Given the description of an element on the screen output the (x, y) to click on. 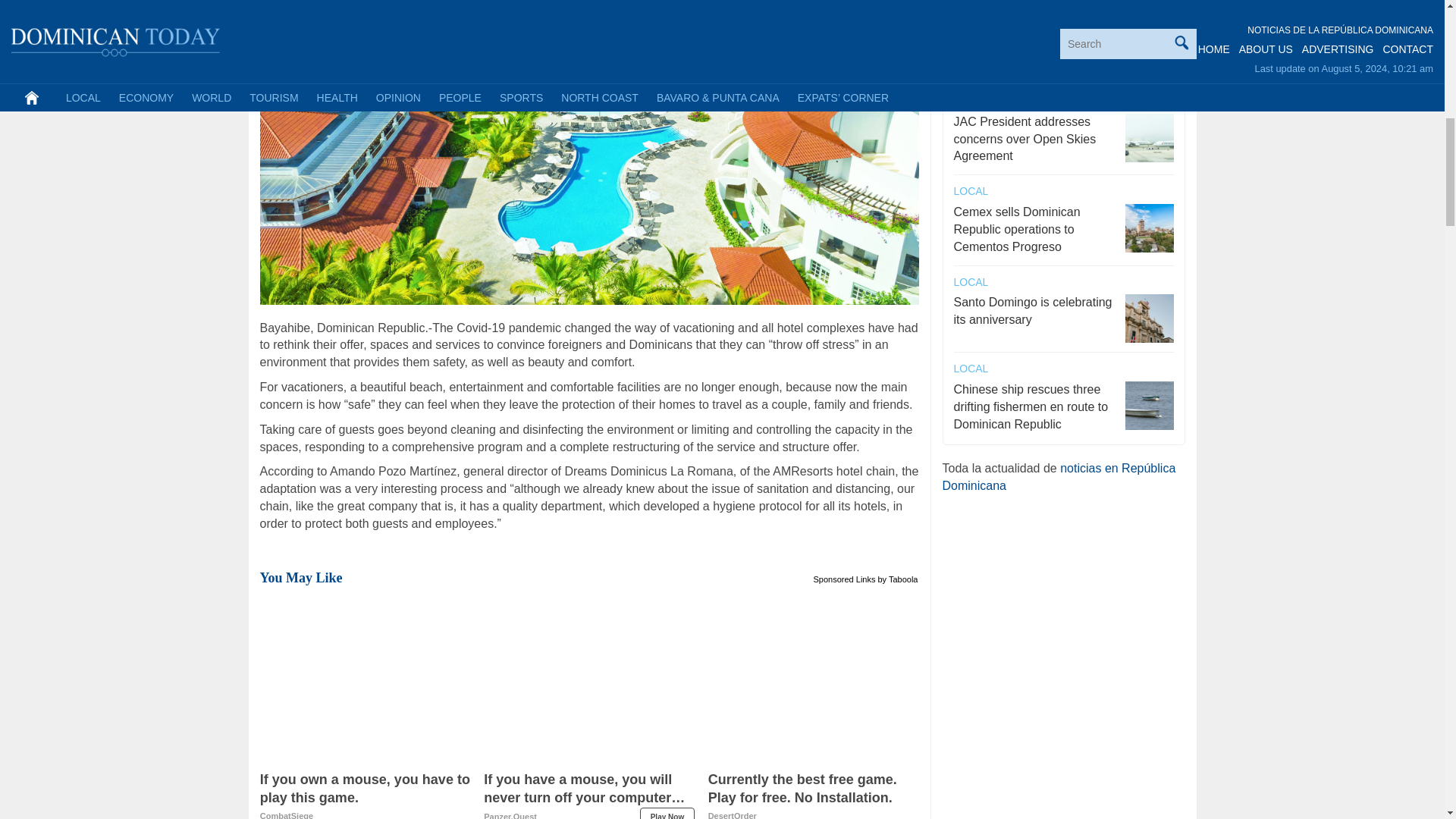
by Taboola (365, 794)
Play Now (897, 577)
Sponsored Links (667, 813)
If you own a mouse, you have to play this game. (844, 577)
